Given the description of an element on the screen output the (x, y) to click on. 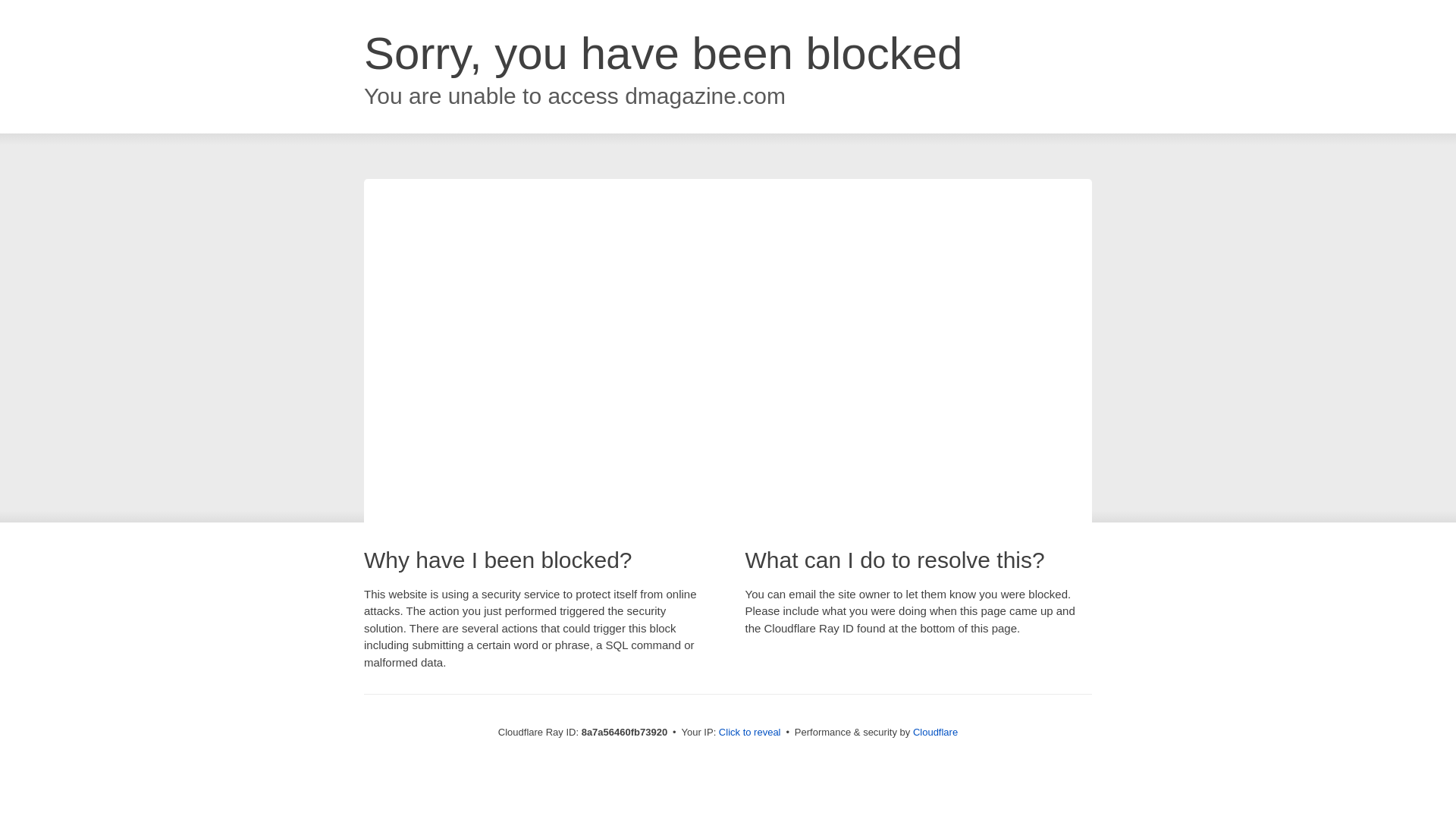
Click to reveal (749, 732)
Cloudflare (935, 731)
